Given the description of an element on the screen output the (x, y) to click on. 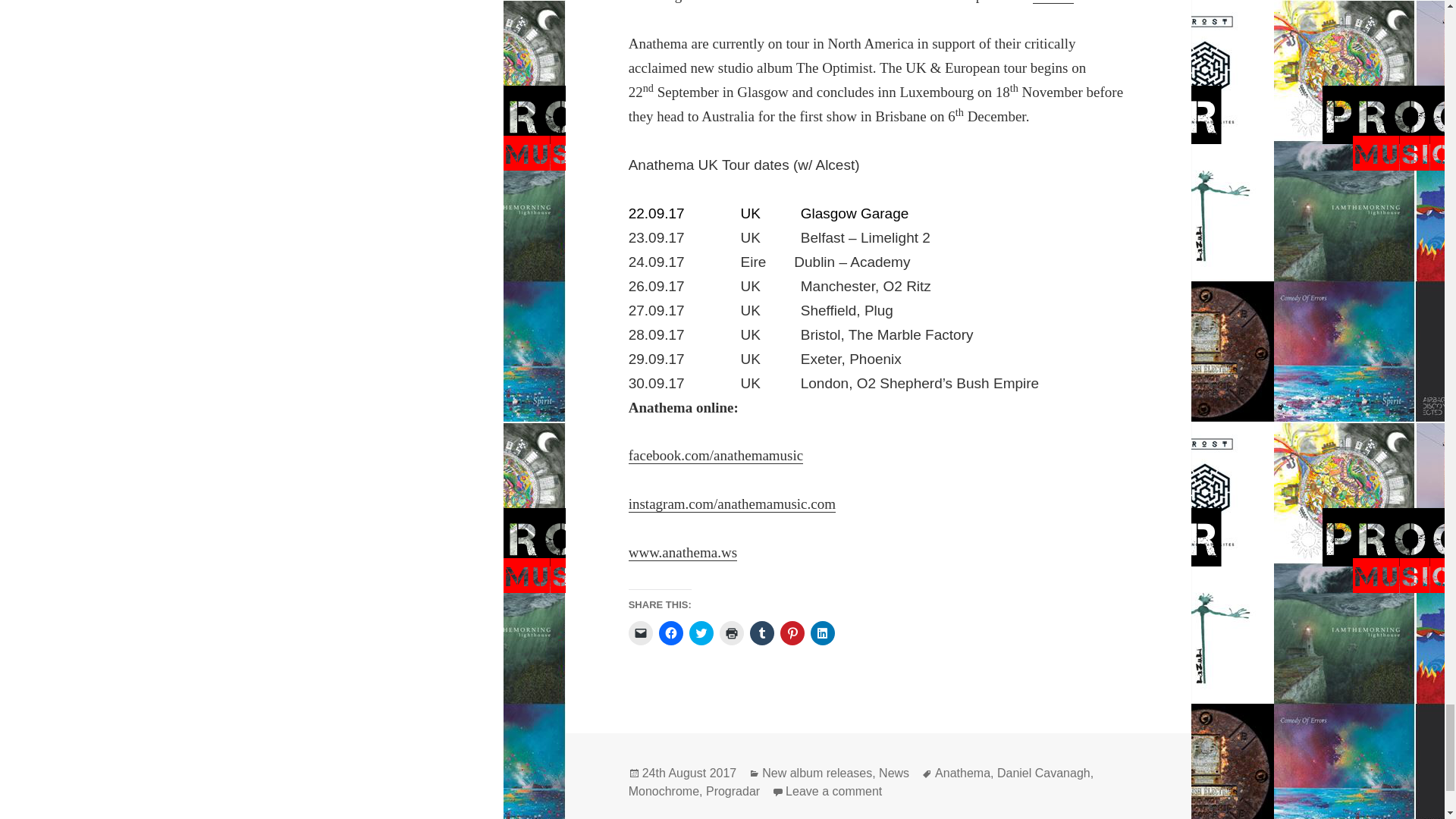
Click to share on Tumblr (761, 632)
Click to share on Facebook (670, 632)
Click to email a link to a friend (640, 632)
Click to share on Twitter (700, 632)
Click to print (731, 632)
Click to share on Pinterest (792, 632)
